Given the description of an element on the screen output the (x, y) to click on. 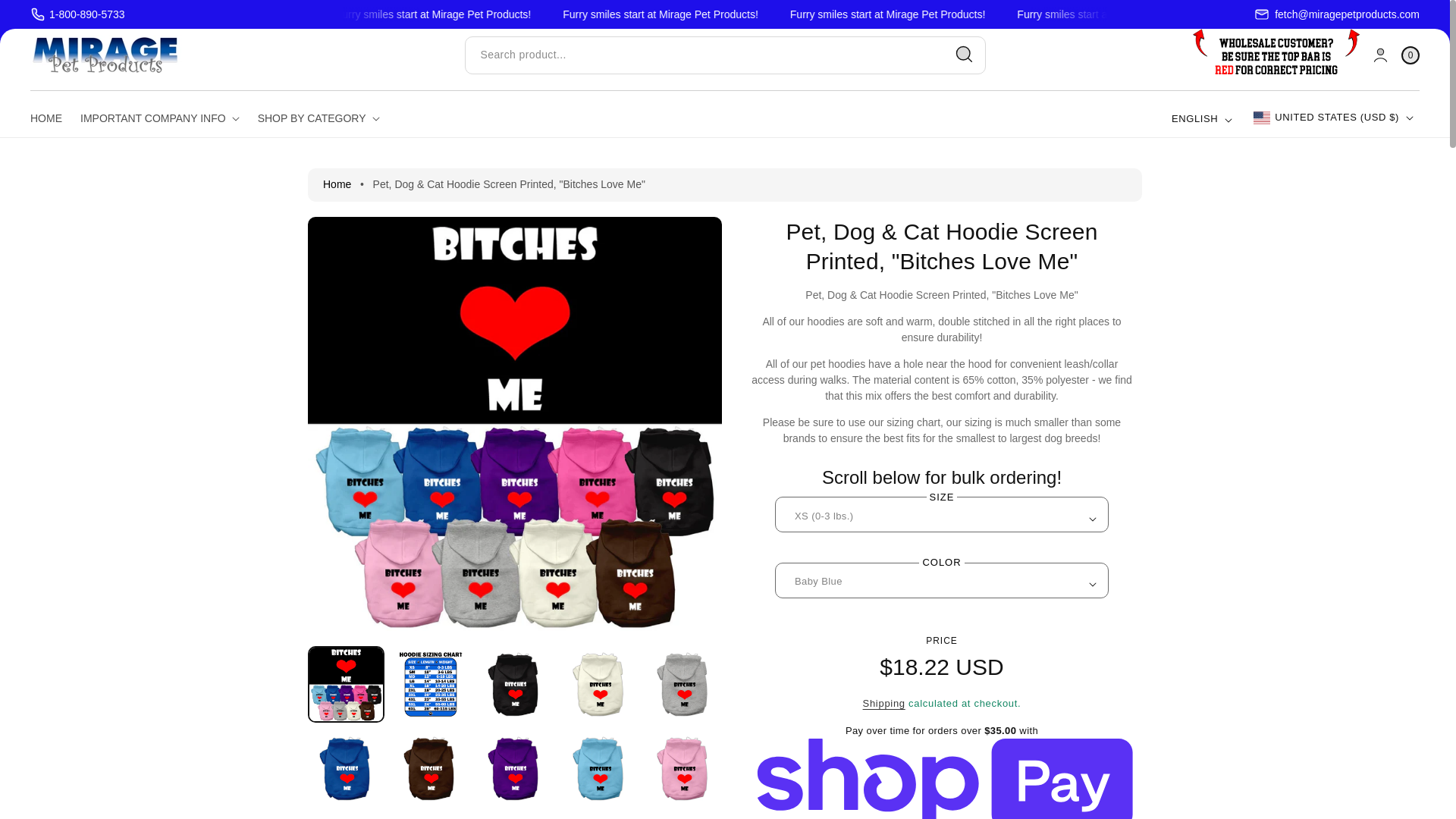
IMPORTANT COMPANY INFO (159, 118)
SHOP BY CATEGORY (318, 118)
Skip To Content (33, 18)
1-800-890-5733 (77, 14)
Home (336, 184)
HOME (50, 118)
